Given the description of an element on the screen output the (x, y) to click on. 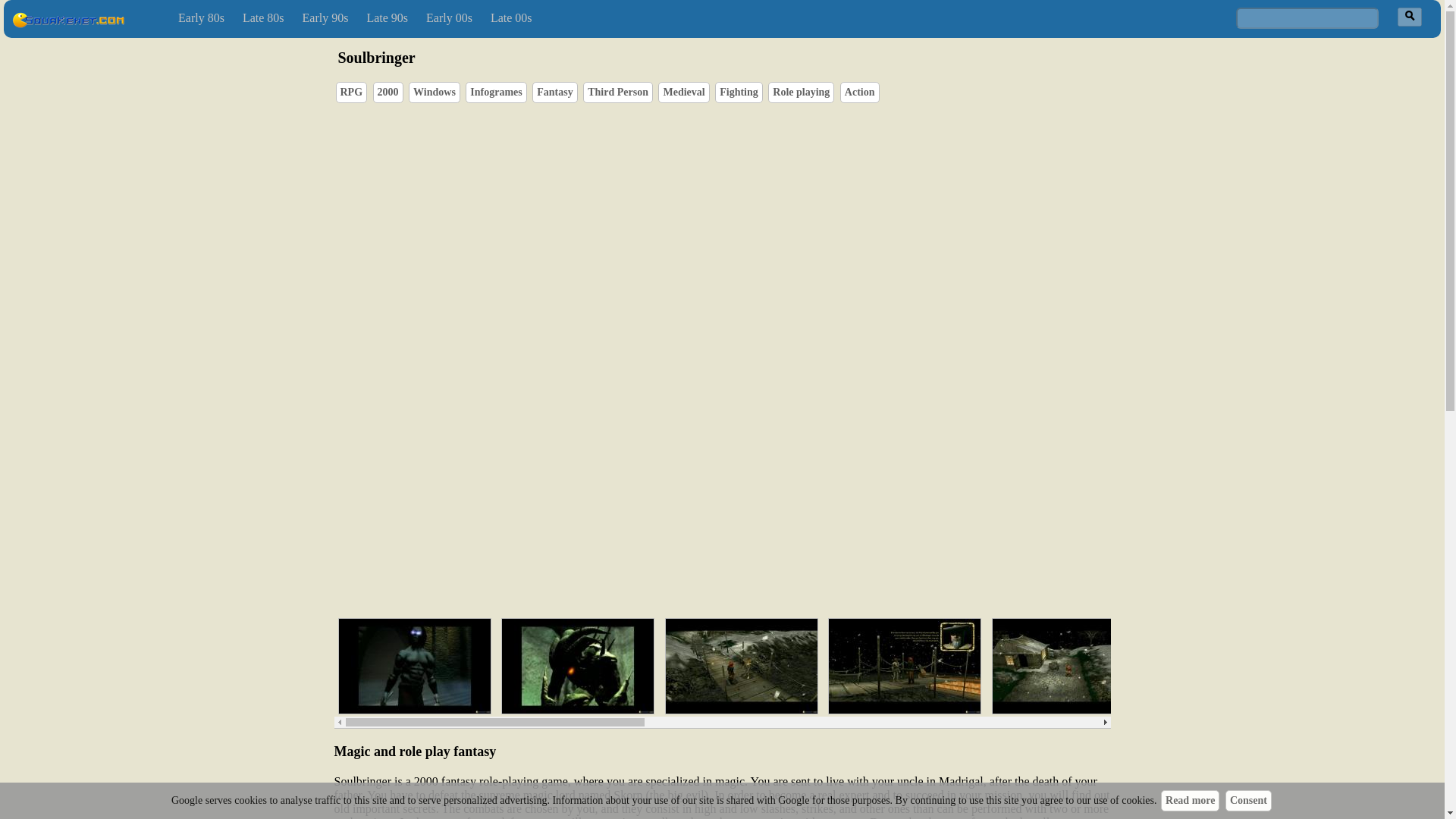
Fantasy (554, 91)
Third Person (617, 91)
Late 00s (511, 17)
Late 80s (263, 17)
RPG (350, 91)
Infogrames (495, 91)
Early 00s (448, 17)
Games released between 1995 and 1999 (386, 17)
Games released between 2005 and 2008 (511, 17)
Games released between 1990 and 1994 (325, 17)
Windows (434, 91)
2000 (387, 91)
Late 90s (386, 17)
Games released between 1980 and 1984 (200, 17)
Advertisement (765, 534)
